Given the description of an element on the screen output the (x, y) to click on. 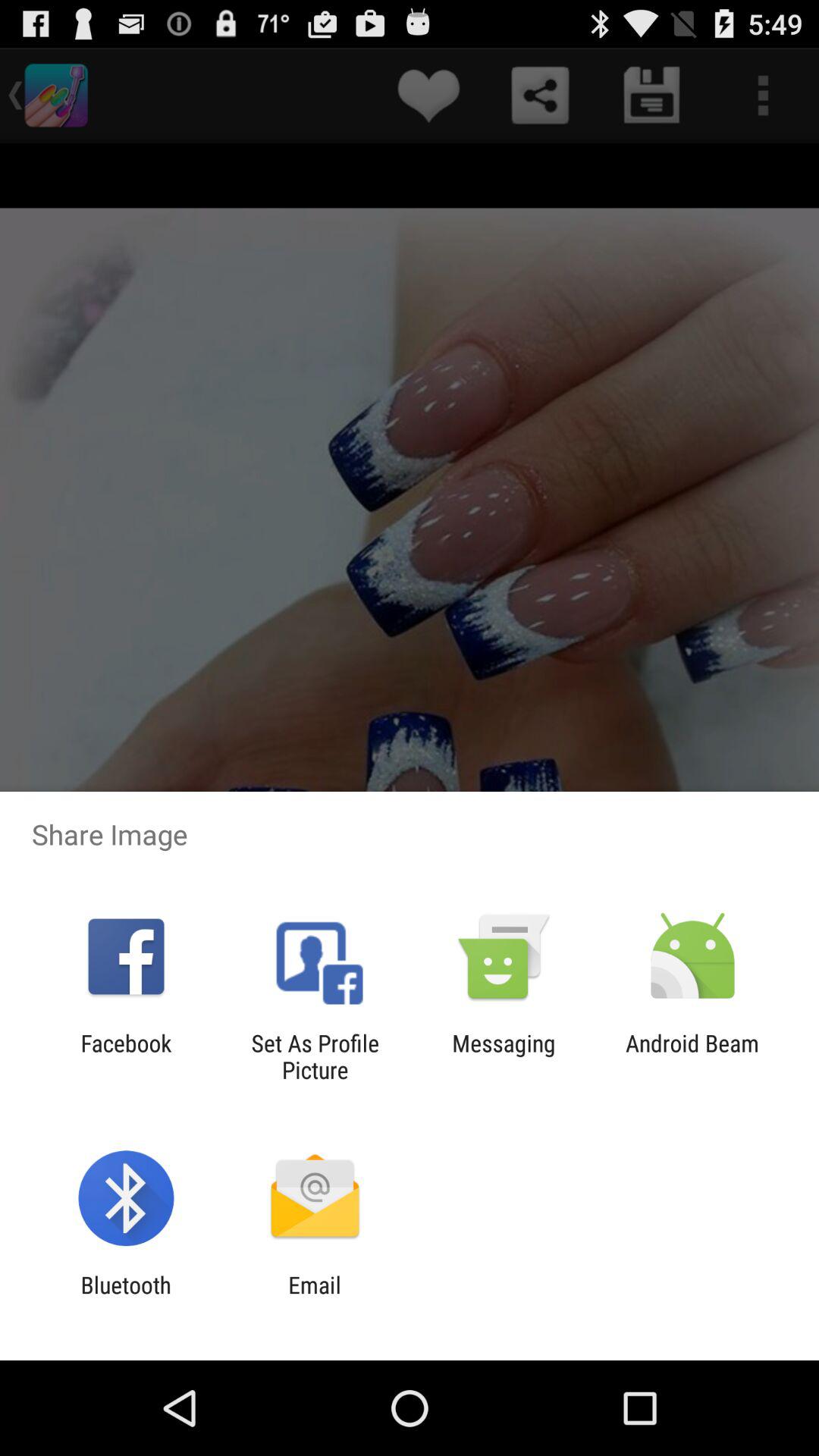
choose item to the right of the set as profile (503, 1056)
